Given the description of an element on the screen output the (x, y) to click on. 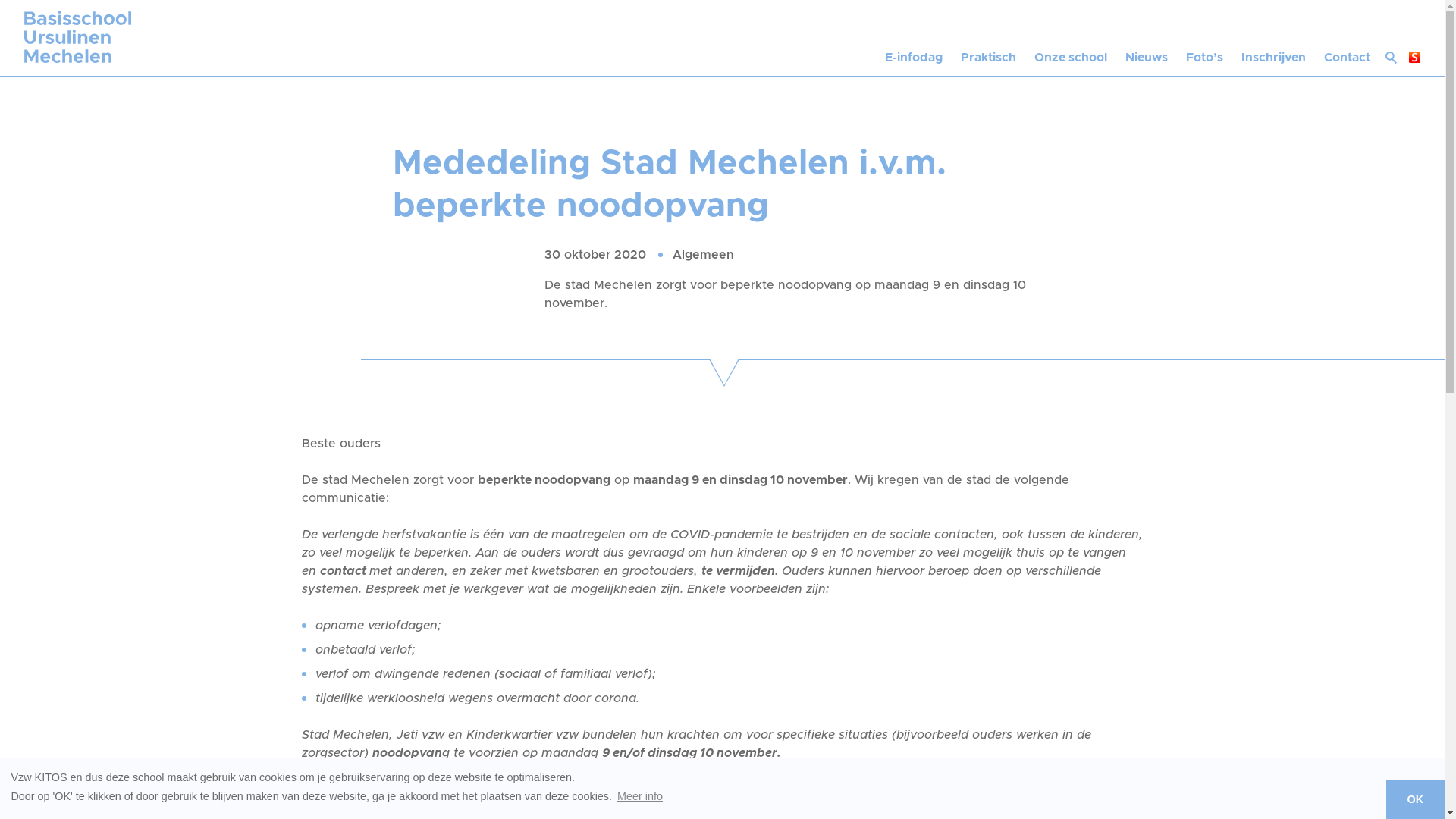
E-infodag Element type: text (913, 37)
Inschrijven Element type: text (1273, 37)
Contact Element type: text (1346, 37)
Nieuws Element type: text (1146, 37)
Praktisch Element type: text (988, 37)
Meer info Element type: text (640, 796)
Onze school Element type: text (1070, 37)
